Given the description of an element on the screen output the (x, y) to click on. 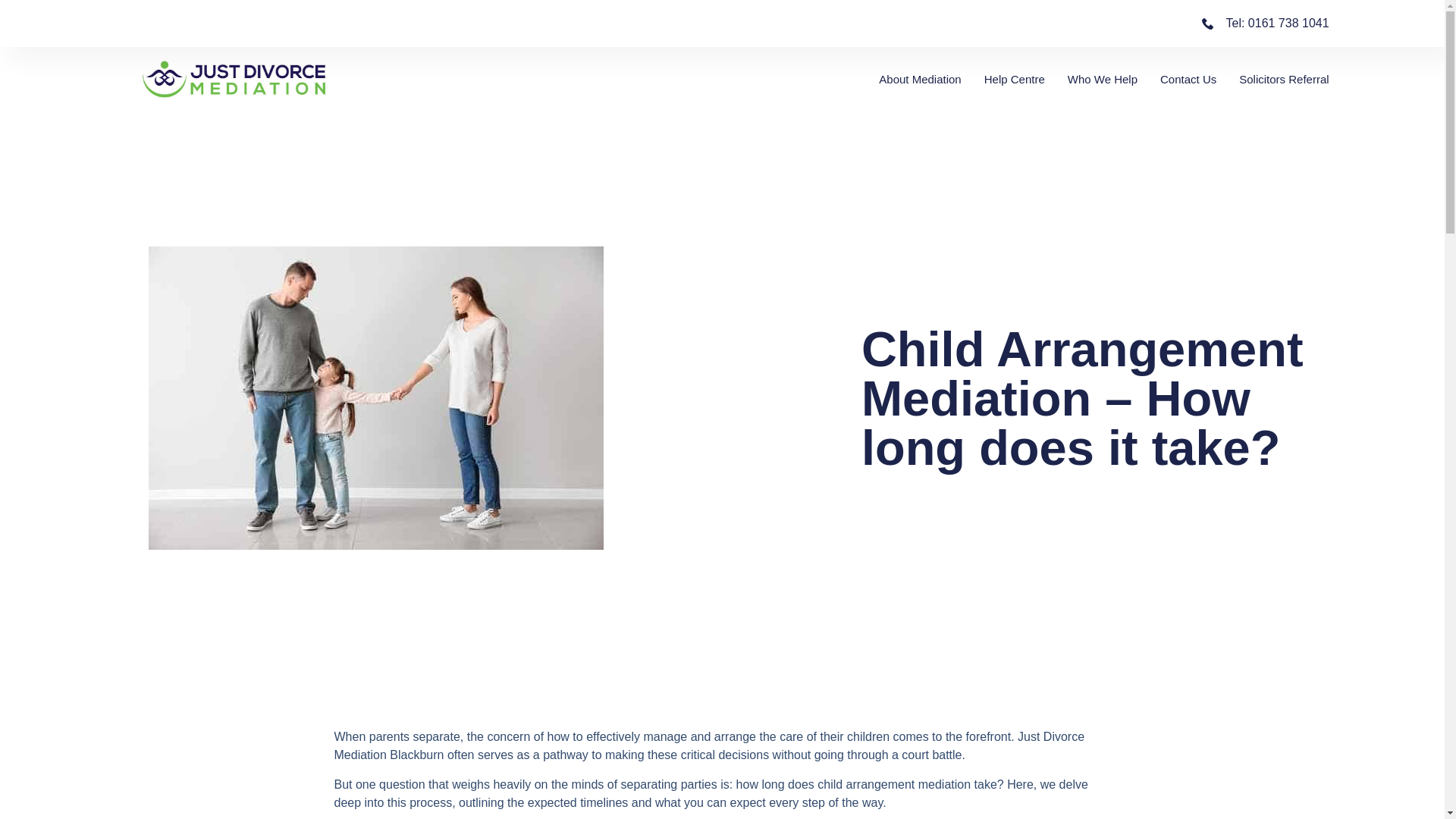
Help Centre (1014, 78)
Solicitors Referral (1283, 78)
Tel: 0161 738 1041 (721, 23)
About Mediation (919, 78)
Contact Us (1187, 78)
Who We Help (1102, 78)
